Given the description of an element on the screen output the (x, y) to click on. 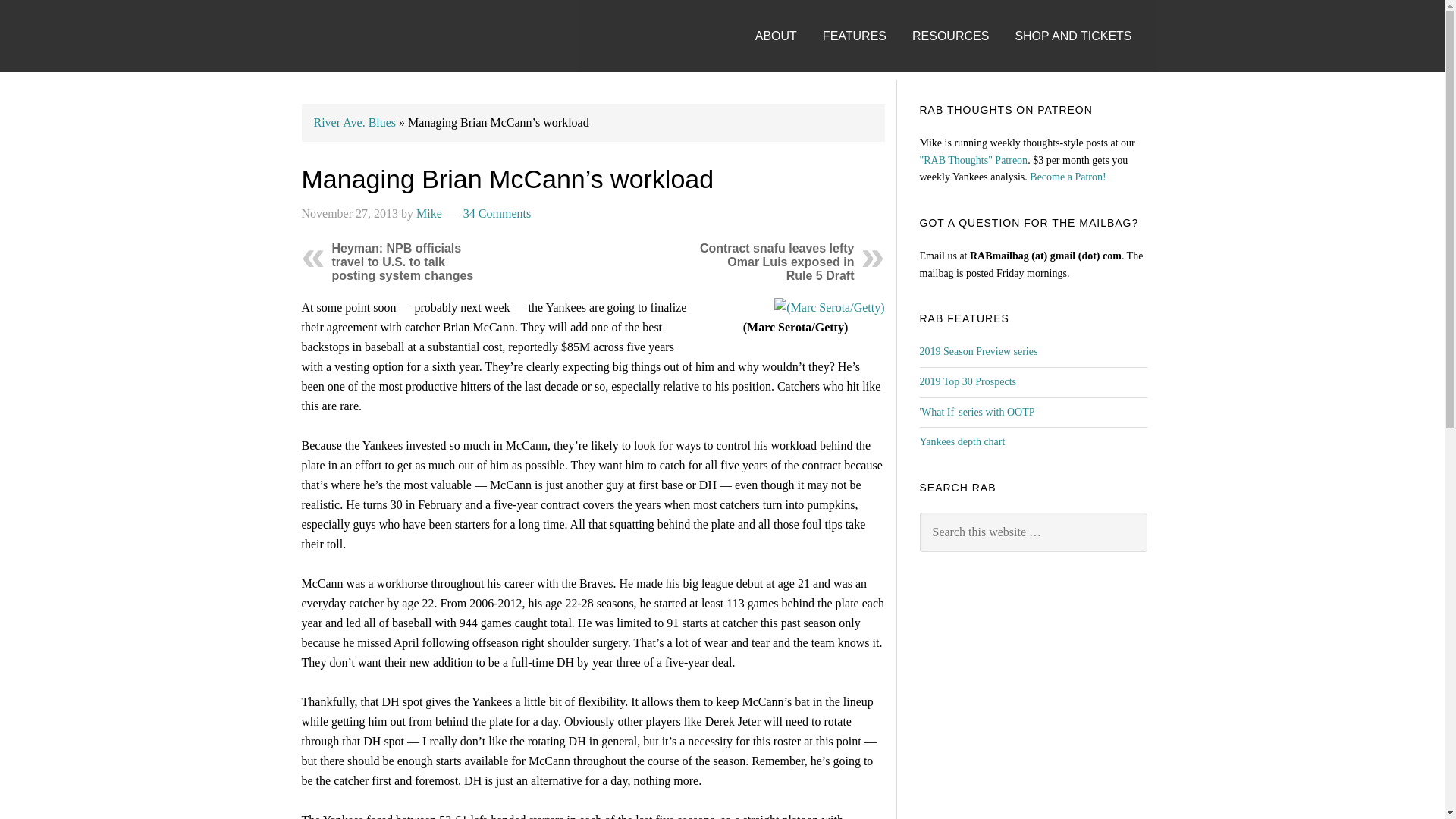
34 Comments (497, 213)
RIVER AVENUE BLUES (334, 36)
2019 Season Preview series (977, 351)
SHOP AND TICKETS (1084, 21)
RESOURCES (961, 21)
Yankees depth chart (961, 441)
Become a Patron! (1067, 176)
River Ave. Blues (355, 122)
ABOUT (787, 21)
2019 Top 30 Prospects (966, 381)
FEATURES (865, 21)
